Given the description of an element on the screen output the (x, y) to click on. 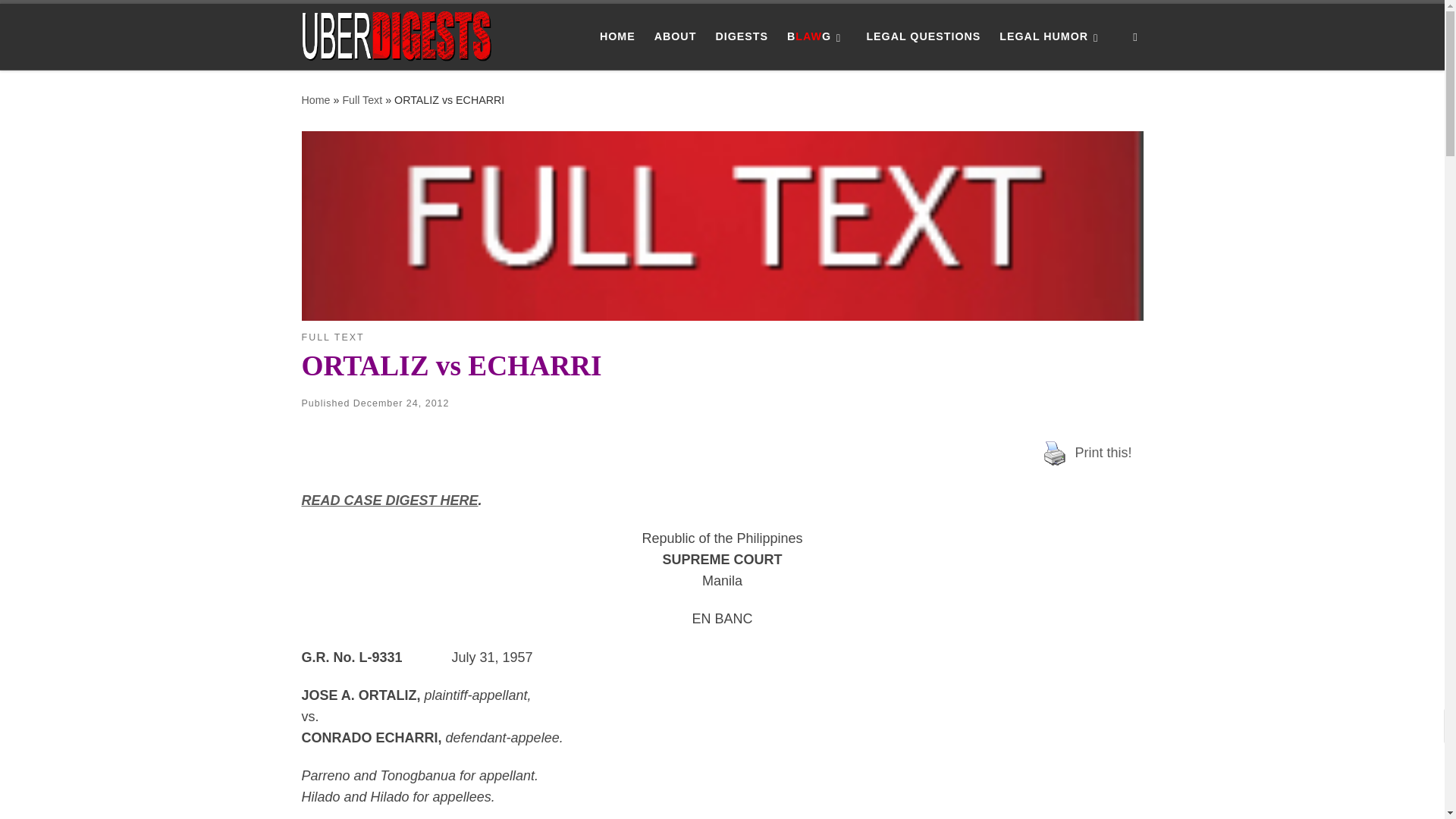
LEGAL QUESTIONS (923, 36)
Full Text (361, 100)
Skip to content (60, 20)
View all posts in Full Text (333, 337)
Full Text (361, 100)
ABOUT (674, 36)
Ortaliz vs Echarri Case Digest (390, 500)
FULL TEXT (333, 337)
READ CASE DIGEST HERE (390, 500)
11:43 pm (401, 403)
DIGESTS (741, 36)
Uber Digests (315, 100)
LEGAL HUMOR (1051, 36)
BLAWG (817, 36)
Print Content (1054, 453)
